Given the description of an element on the screen output the (x, y) to click on. 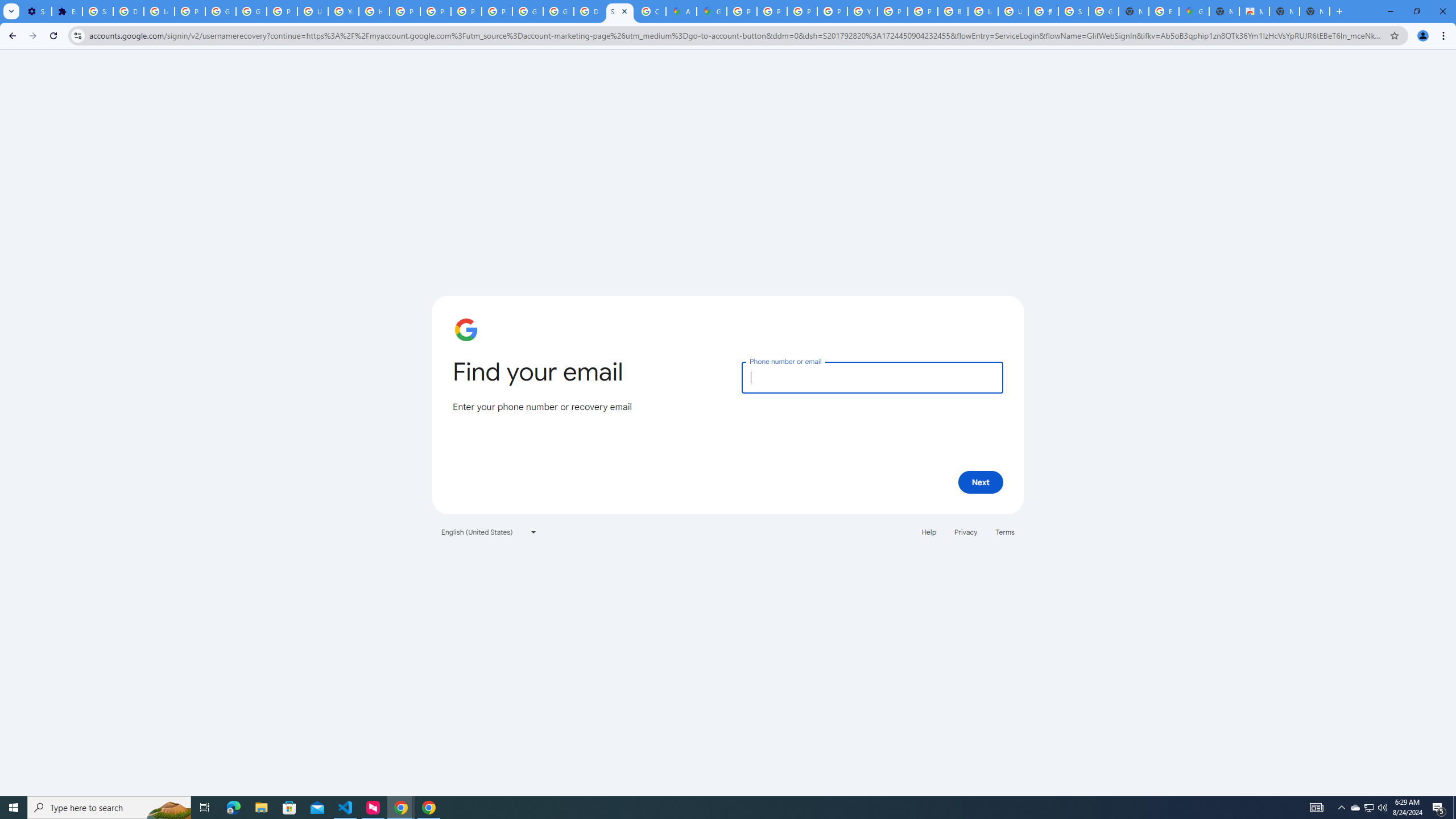
New Tab (1314, 11)
Policy Accountability and Transparency - Transparency Center (741, 11)
Sign in - Google Accounts (1072, 11)
New Tab (1224, 11)
Sign in - Google Accounts (97, 11)
Google Maps (711, 11)
Phone number or email (871, 376)
